Given the description of an element on the screen output the (x, y) to click on. 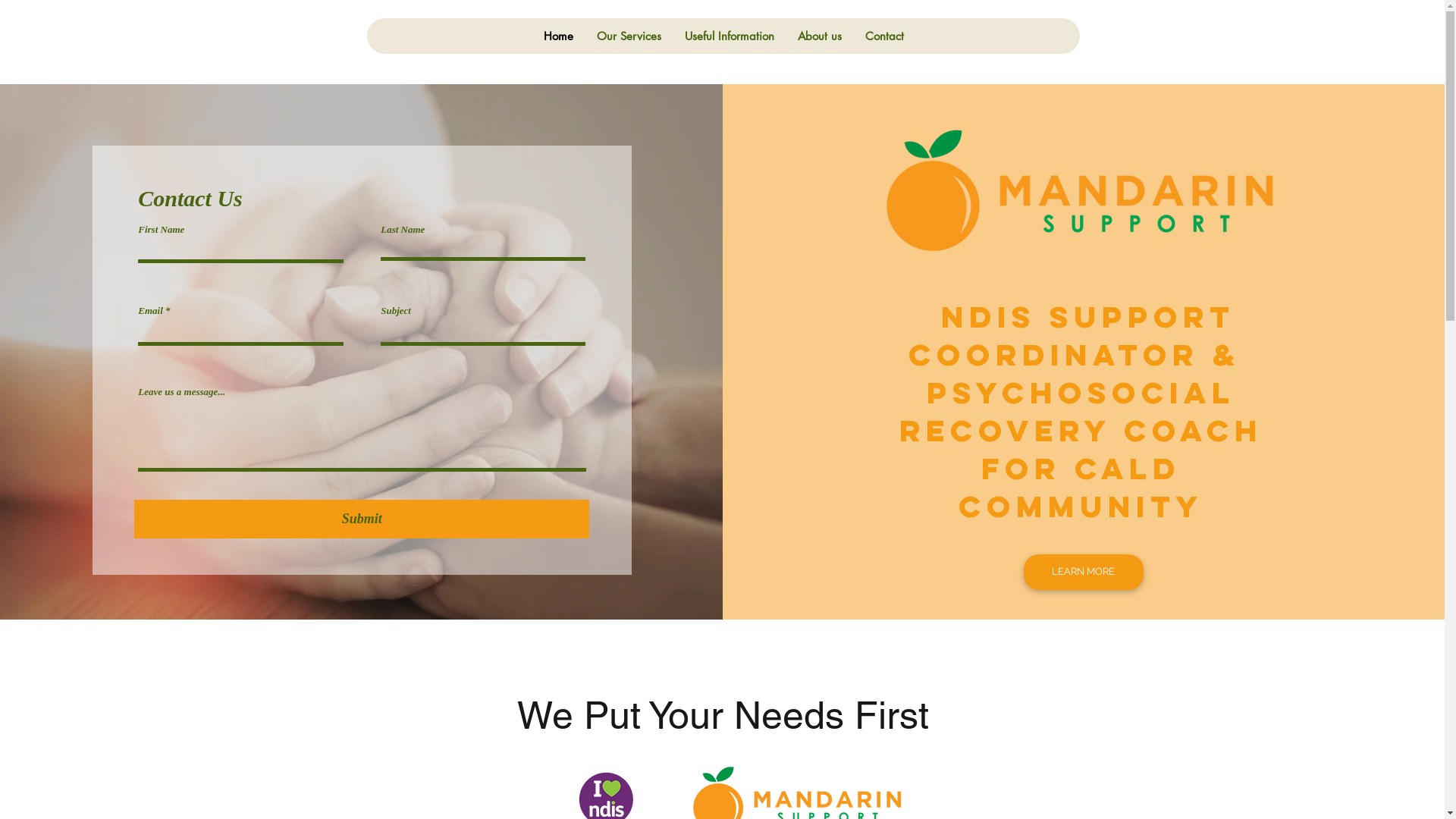
Useful Information Element type: text (728, 35)
About us Element type: text (819, 35)
Contact Element type: text (884, 35)
Our Services Element type: text (628, 35)
Home Element type: text (557, 35)
Submit Element type: text (361, 518)
LEARN MORE Element type: text (1083, 571)
